Given the description of an element on the screen output the (x, y) to click on. 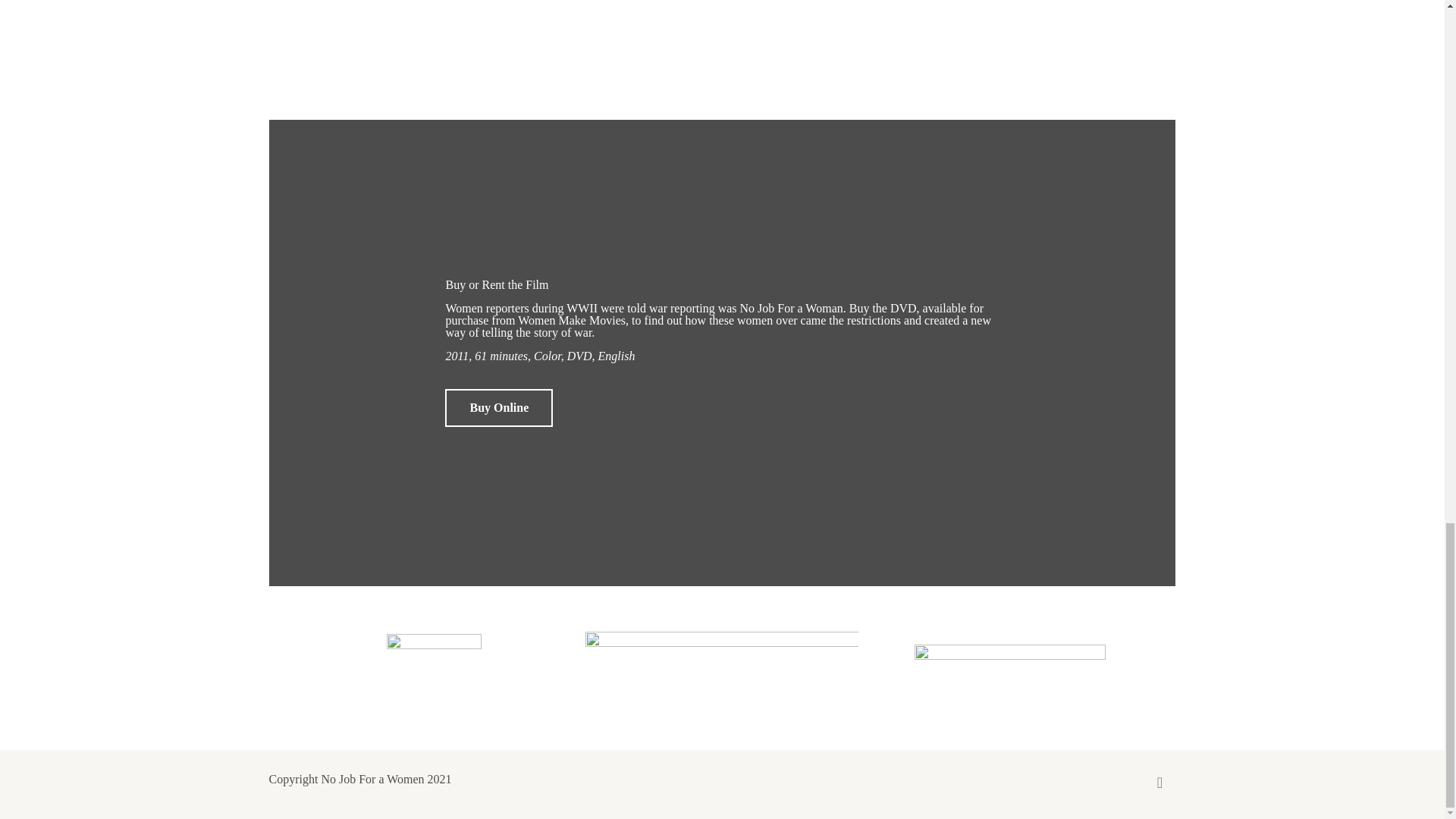
YouTube (1121, 779)
Facebook (1100, 779)
Buy Online (499, 407)
